Given the description of an element on the screen output the (x, y) to click on. 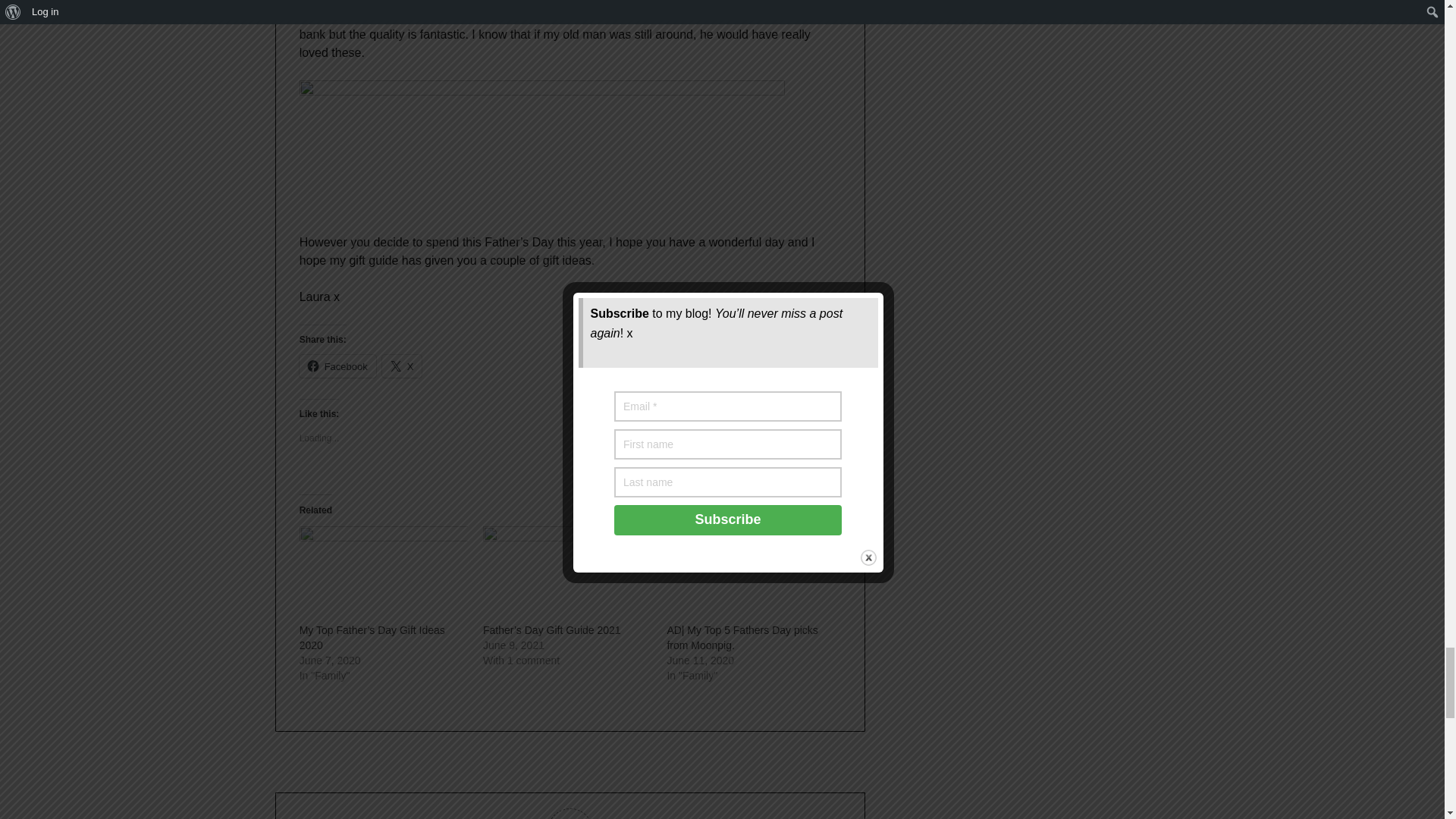
Click to share on Facebook (337, 365)
Facebook (337, 365)
Click to share on X (401, 365)
X (401, 365)
